Given the description of an element on the screen output the (x, y) to click on. 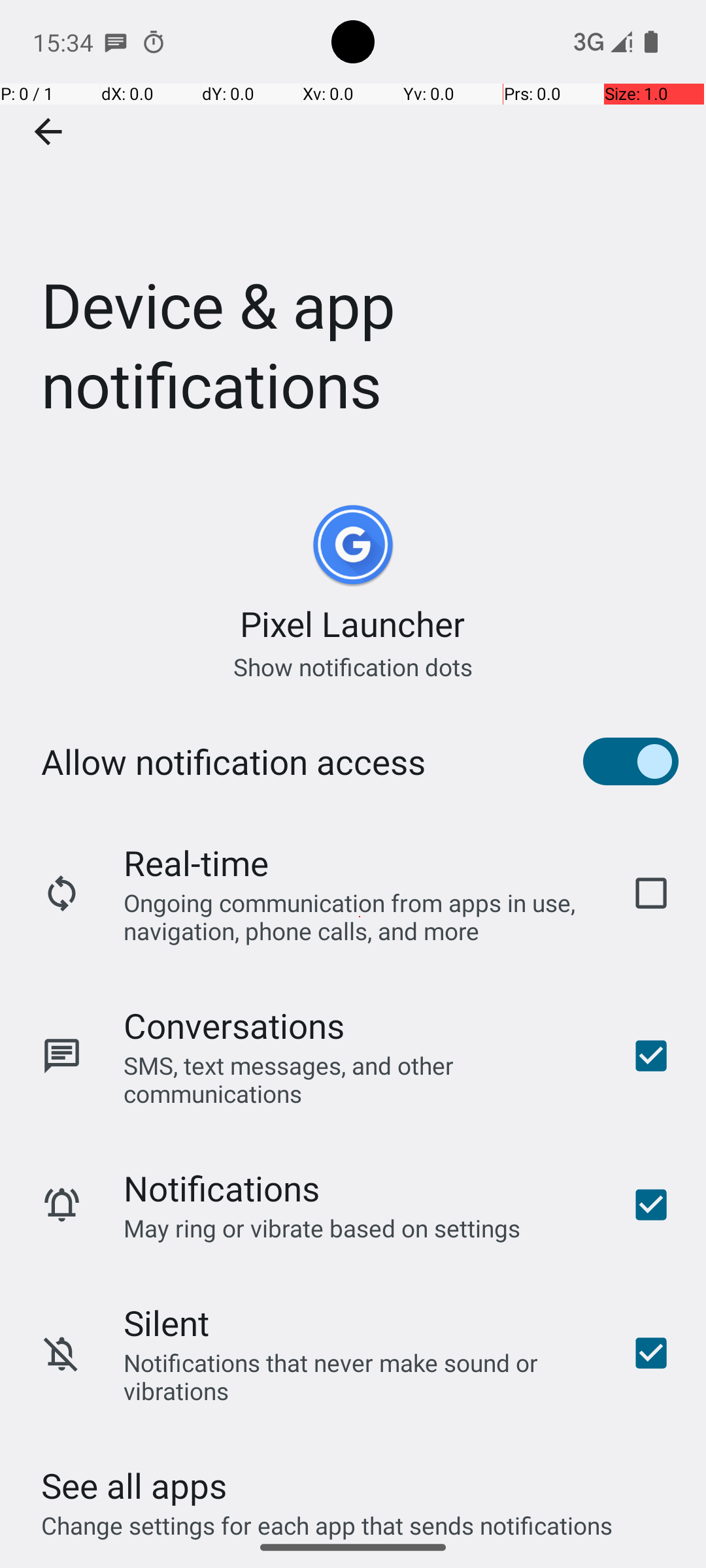
Show notification dots Element type: android.widget.TextView (352, 666)
Allow notification access Element type: android.widget.TextView (233, 761)
Real-time Element type: android.widget.TextView (195, 862)
Ongoing communication from apps in use, navigation, phone calls, and more Element type: android.widget.TextView (359, 916)
SMS, text messages, and other communications Element type: android.widget.TextView (359, 1079)
May ring or vibrate based on settings Element type: android.widget.TextView (322, 1227)
Notifications that never make sound or vibrations Element type: android.widget.TextView (359, 1376)
See all apps Element type: android.widget.TextView (133, 1485)
Change settings for each app that sends notifications Element type: android.widget.TextView (326, 1517)
